Given the description of an element on the screen output the (x, y) to click on. 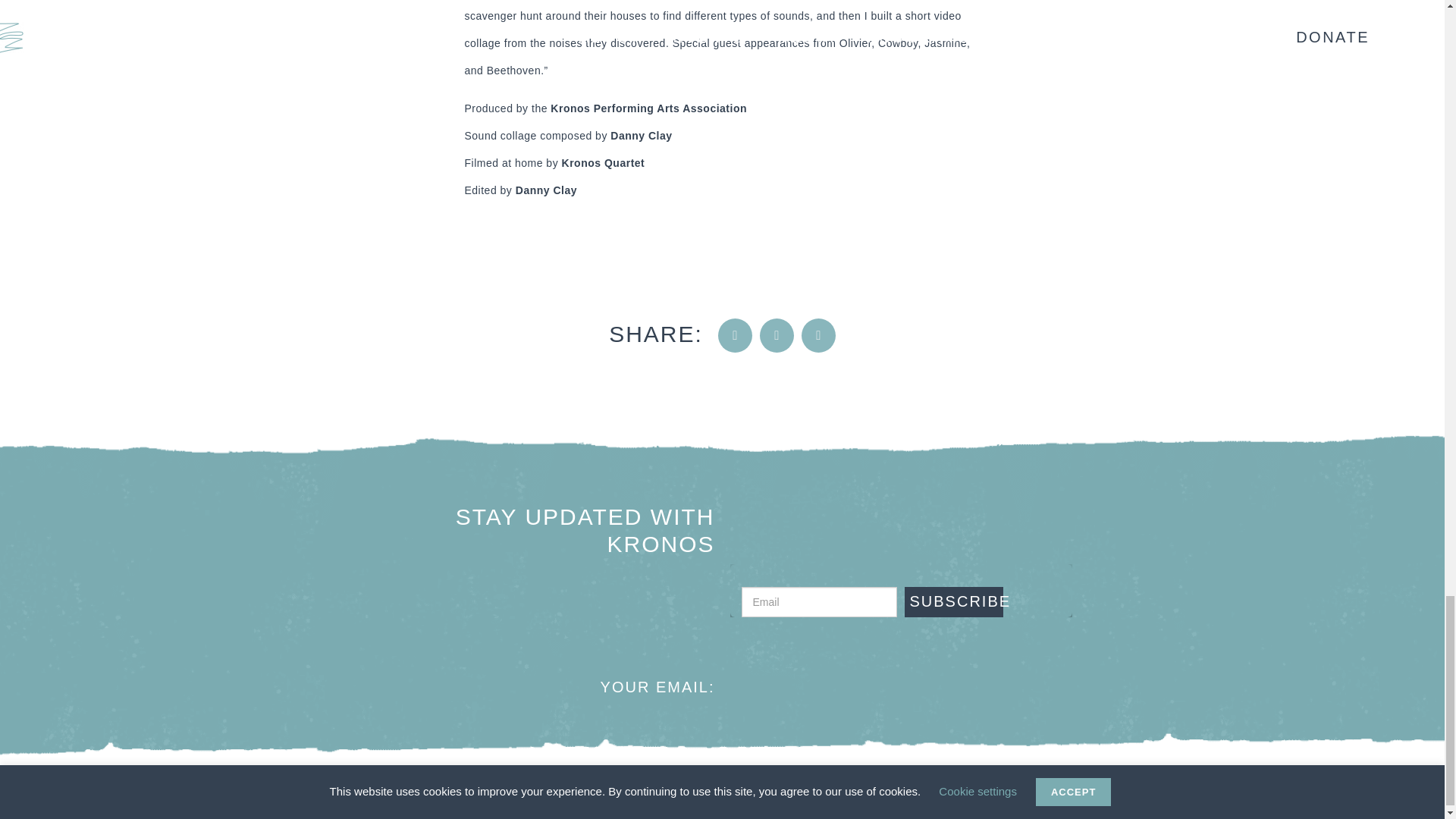
line-subsribe (592, 622)
